Given the description of an element on the screen output the (x, y) to click on. 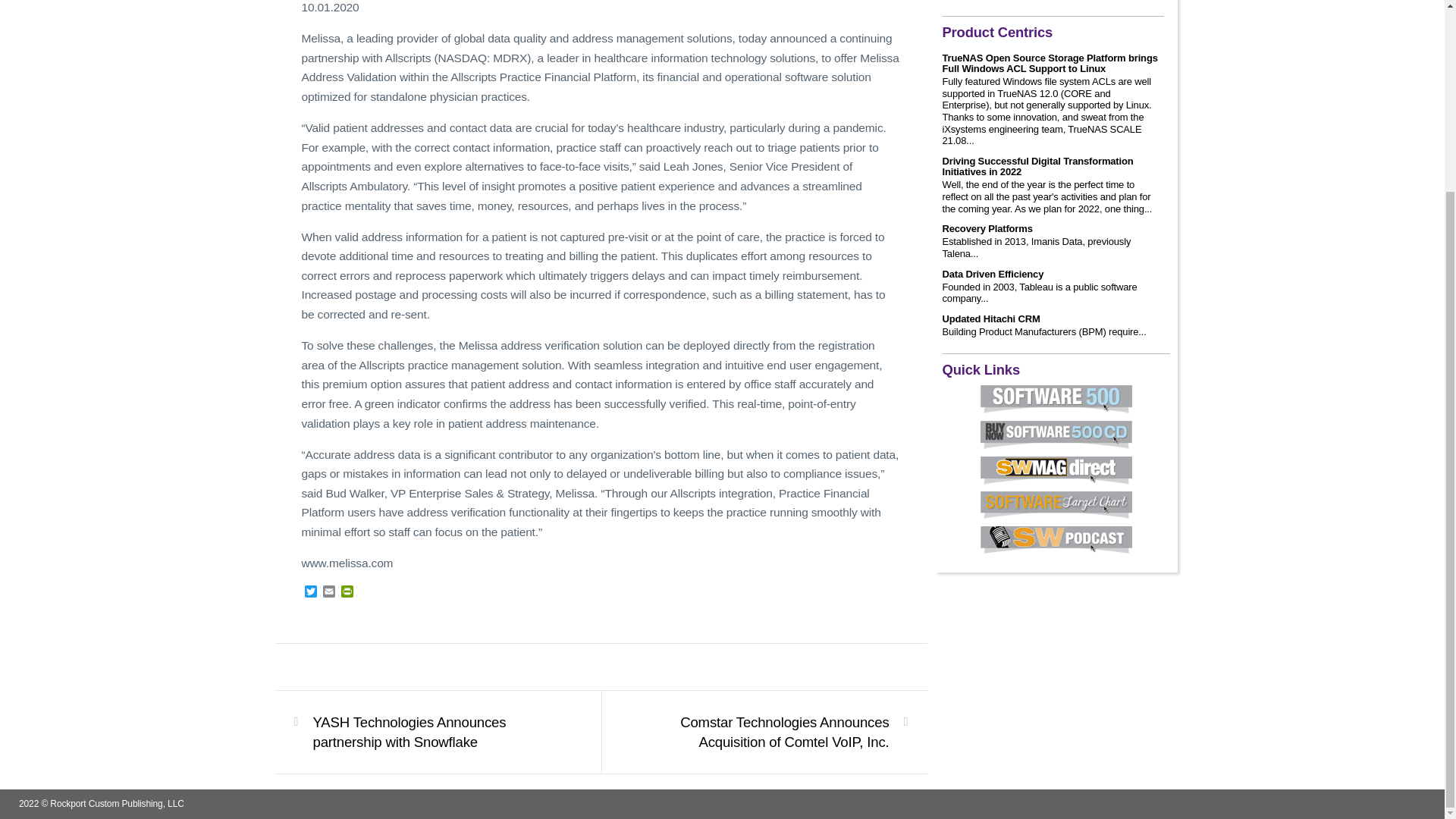
YASH Technologies Announces partnership with Snowflake (428, 731)
PrintFriendly (346, 592)
Twitter (310, 592)
Next (773, 731)
Previous (428, 731)
Data Driven Efficiency (992, 274)
Updated Hitachi CRM (990, 318)
Recovery Platforms (987, 228)
Email (328, 592)
Email (328, 592)
Twitter (310, 592)
PrintFriendly (346, 592)
